Given the description of an element on the screen output the (x, y) to click on. 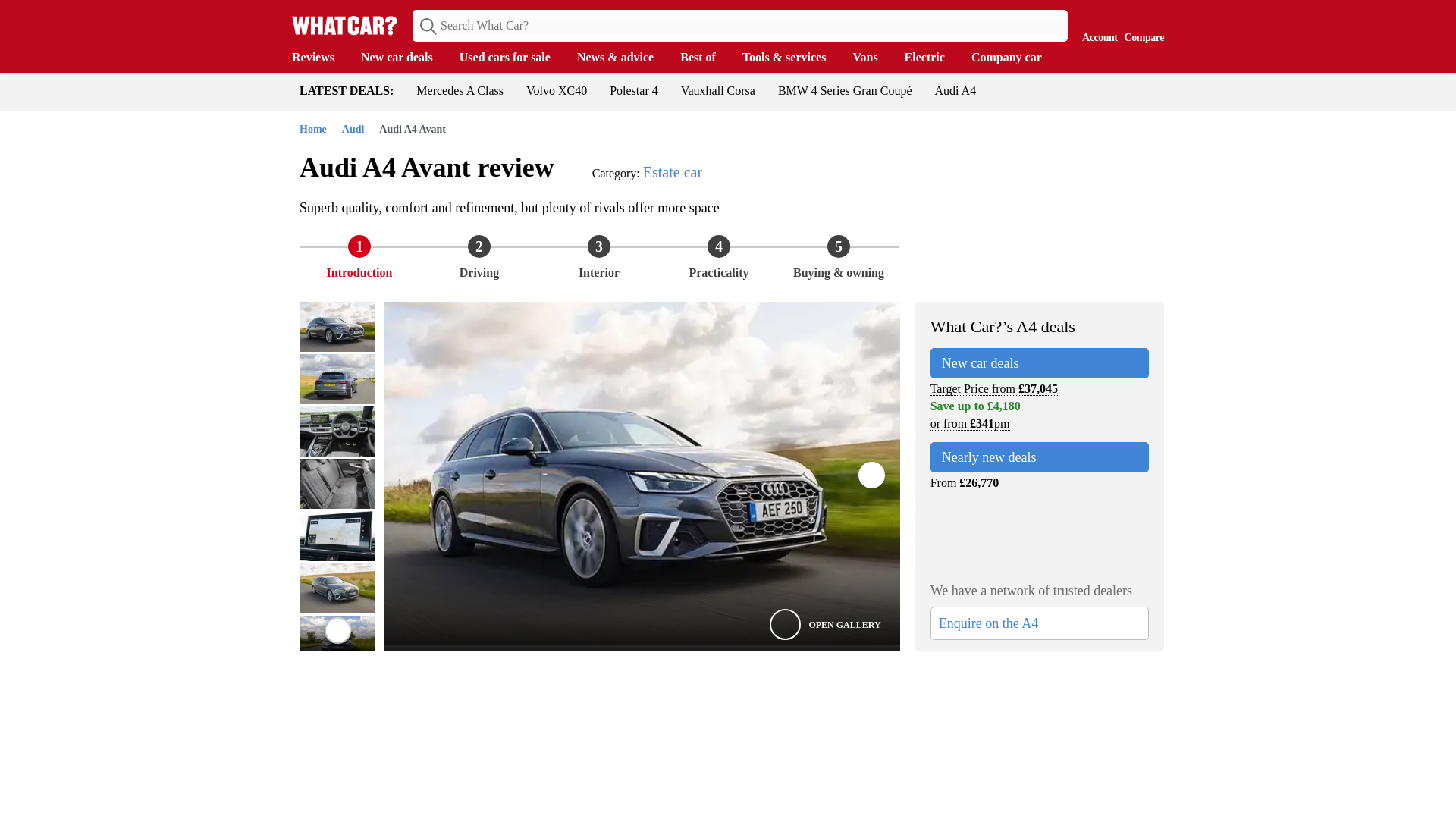
Compare (1140, 24)
WhatCar? logo (344, 25)
Best of (704, 57)
Used cars for sale (513, 57)
Vans (871, 57)
Company car (1014, 57)
Account (1095, 24)
New car deals (404, 57)
Reviews (320, 57)
Electric (931, 57)
